Given the description of an element on the screen output the (x, y) to click on. 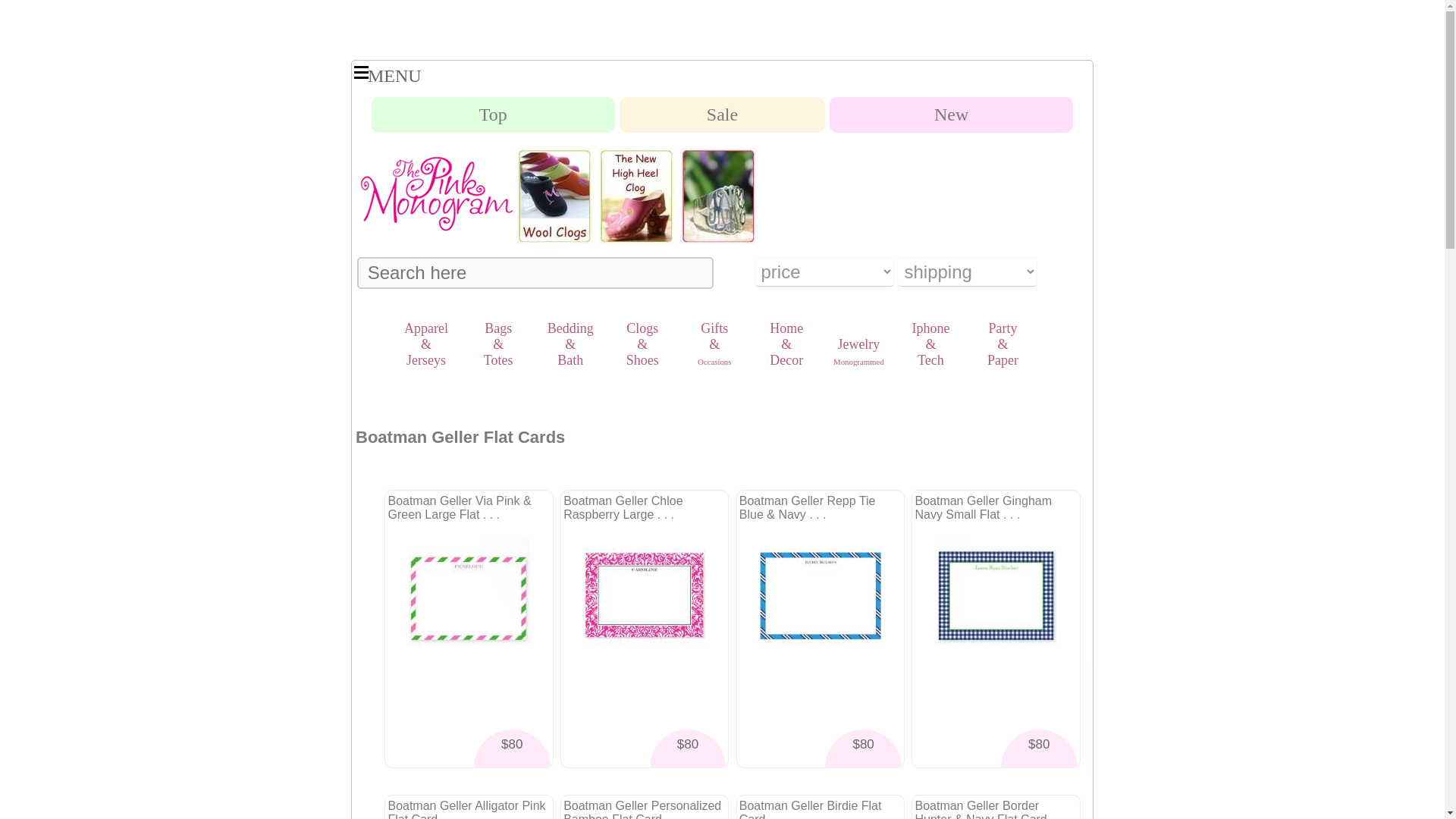
Boatman Geller Gingham Navy Small Flat  . . .  (996, 596)
Boatman Geller Chloe Raspberry Large  . . .  (643, 596)
